Given the description of an element on the screen output the (x, y) to click on. 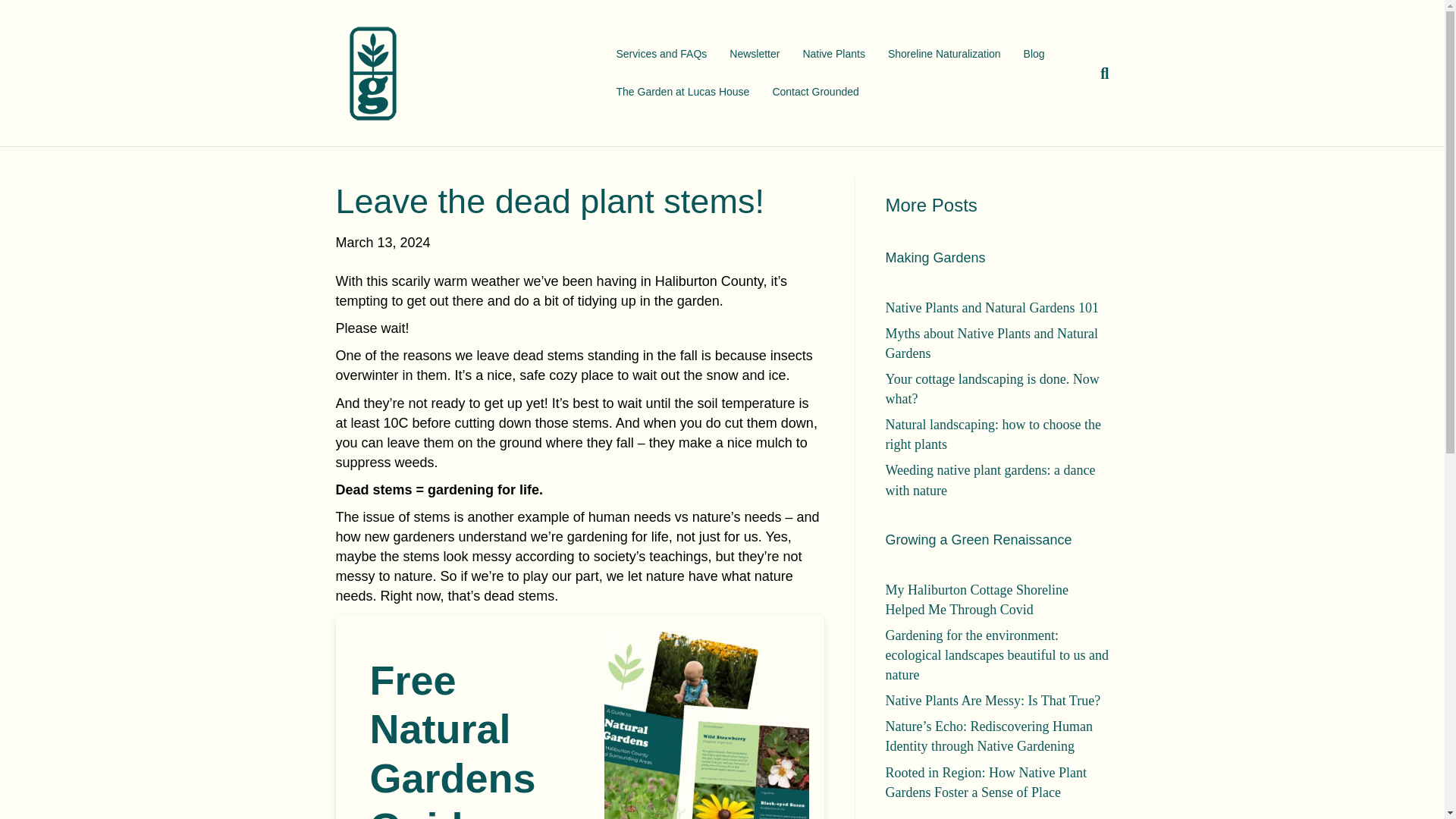
Natural landscaping: how to choose the right plants (992, 434)
Weeding native plant gardens: a dance with nature (990, 479)
Myths about Native Plants and Natural Gardens (991, 343)
Contact Grounded (814, 91)
Newsletter (753, 54)
Native Plants and Natural Gardens 101 (992, 307)
Native Plants (833, 54)
Your cottage landscaping is done. Now what? (992, 388)
The Garden at Lucas House (682, 91)
